Given the description of an element on the screen output the (x, y) to click on. 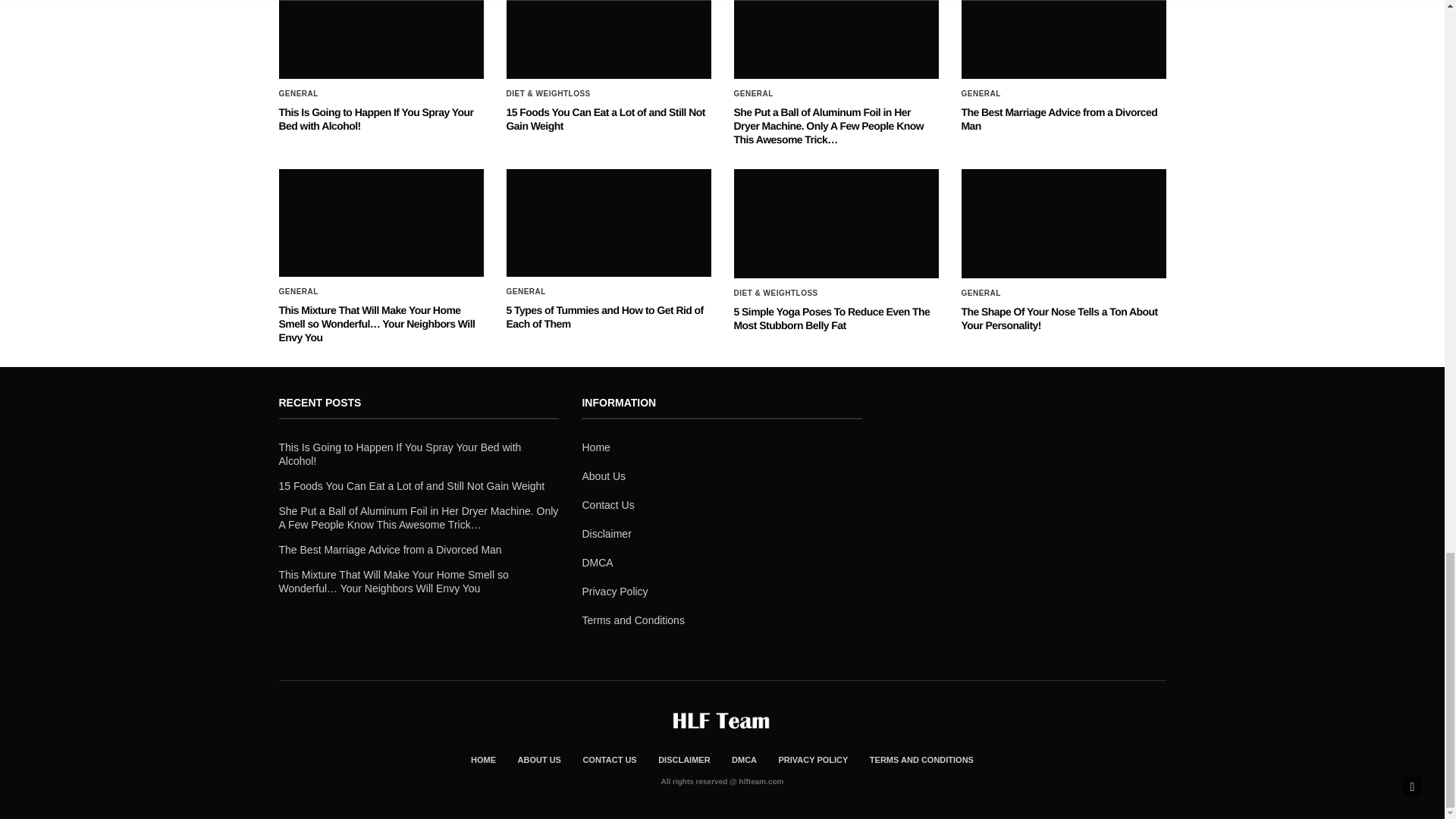
This Is Going to Happen If You Spray Your Bed with Alcohol! (376, 118)
GENERAL (753, 93)
This Is Going to Happen If You Spray Your Bed with Alcohol! (376, 118)
15 Foods You Can Eat a Lot of and Still Not Gain Weight (605, 118)
15 Foods You Can Eat a Lot of and Still Not Gain Weight (608, 39)
GENERAL (298, 93)
General (753, 93)
This Is Going to Happen If You Spray Your Bed with Alcohol! (381, 39)
General (298, 93)
15 Foods You Can Eat a Lot of and Still Not Gain Weight (605, 118)
